Given the description of an element on the screen output the (x, y) to click on. 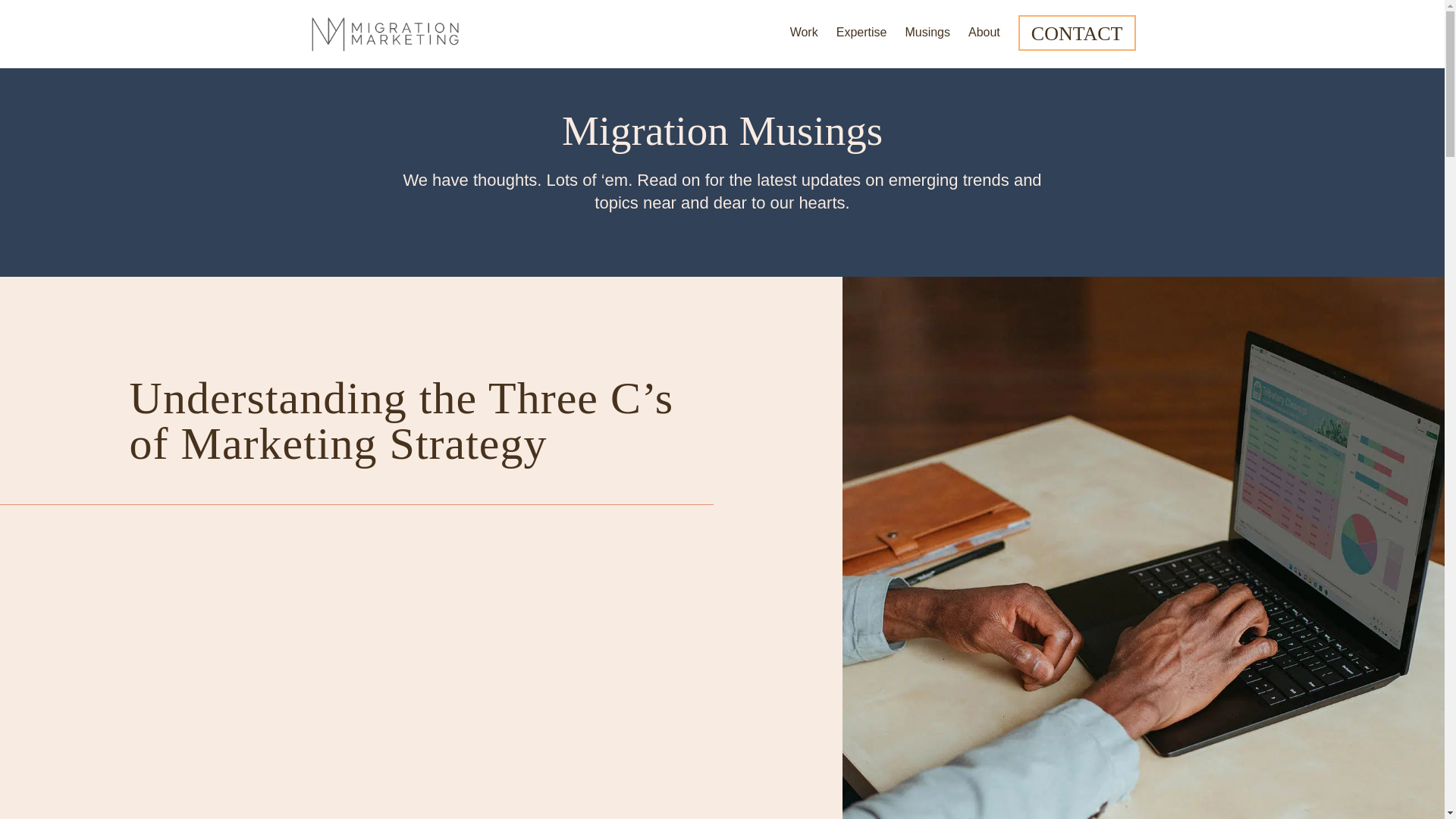
About (984, 37)
Work (804, 37)
Musings (927, 37)
Expertise (860, 37)
CONTACT (1076, 32)
